Given the description of an element on the screen output the (x, y) to click on. 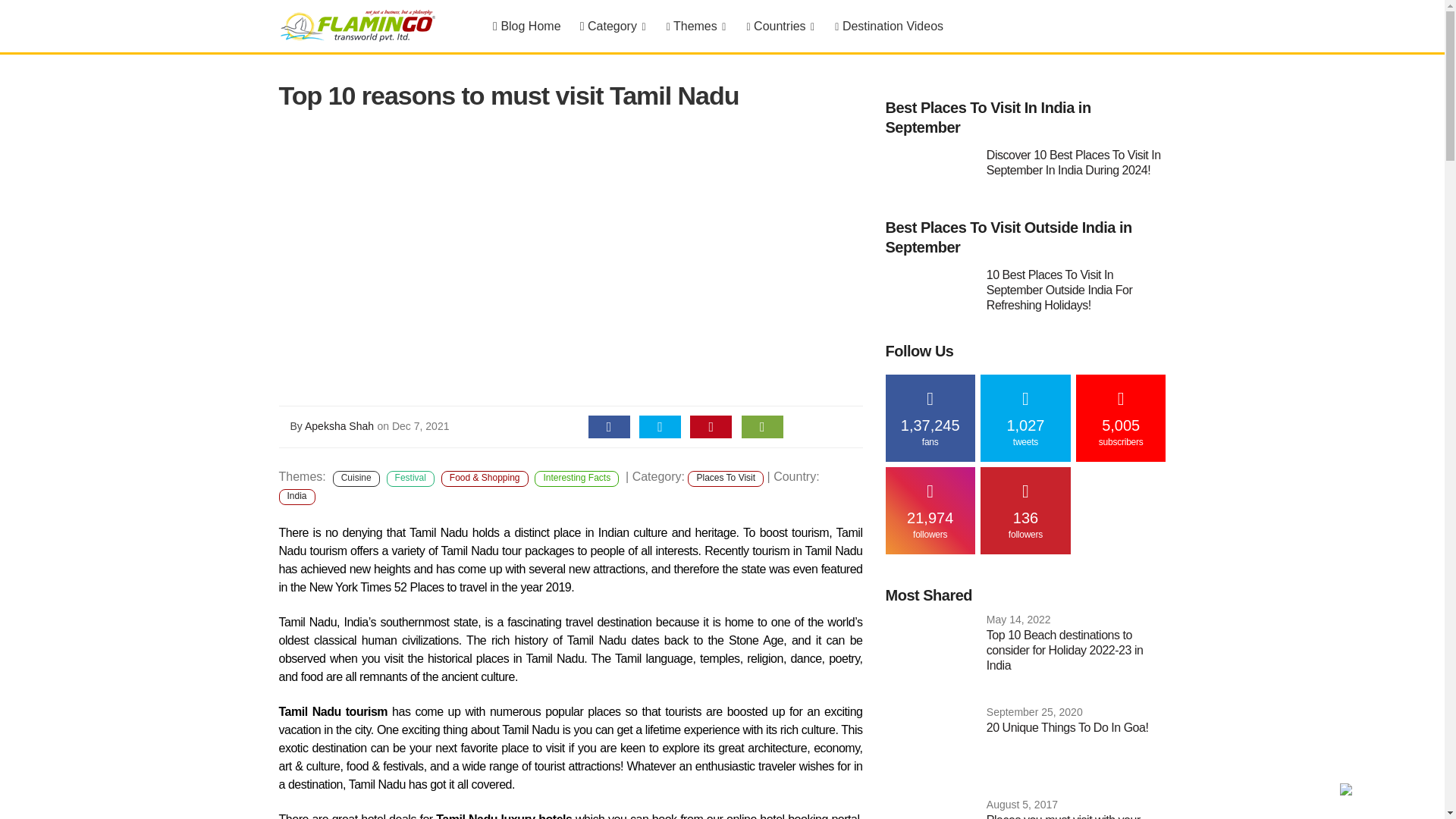
Themes (695, 26)
Blog Home (526, 26)
Category (612, 26)
I am looking for !! (1385, 791)
